Given the description of an element on the screen output the (x, y) to click on. 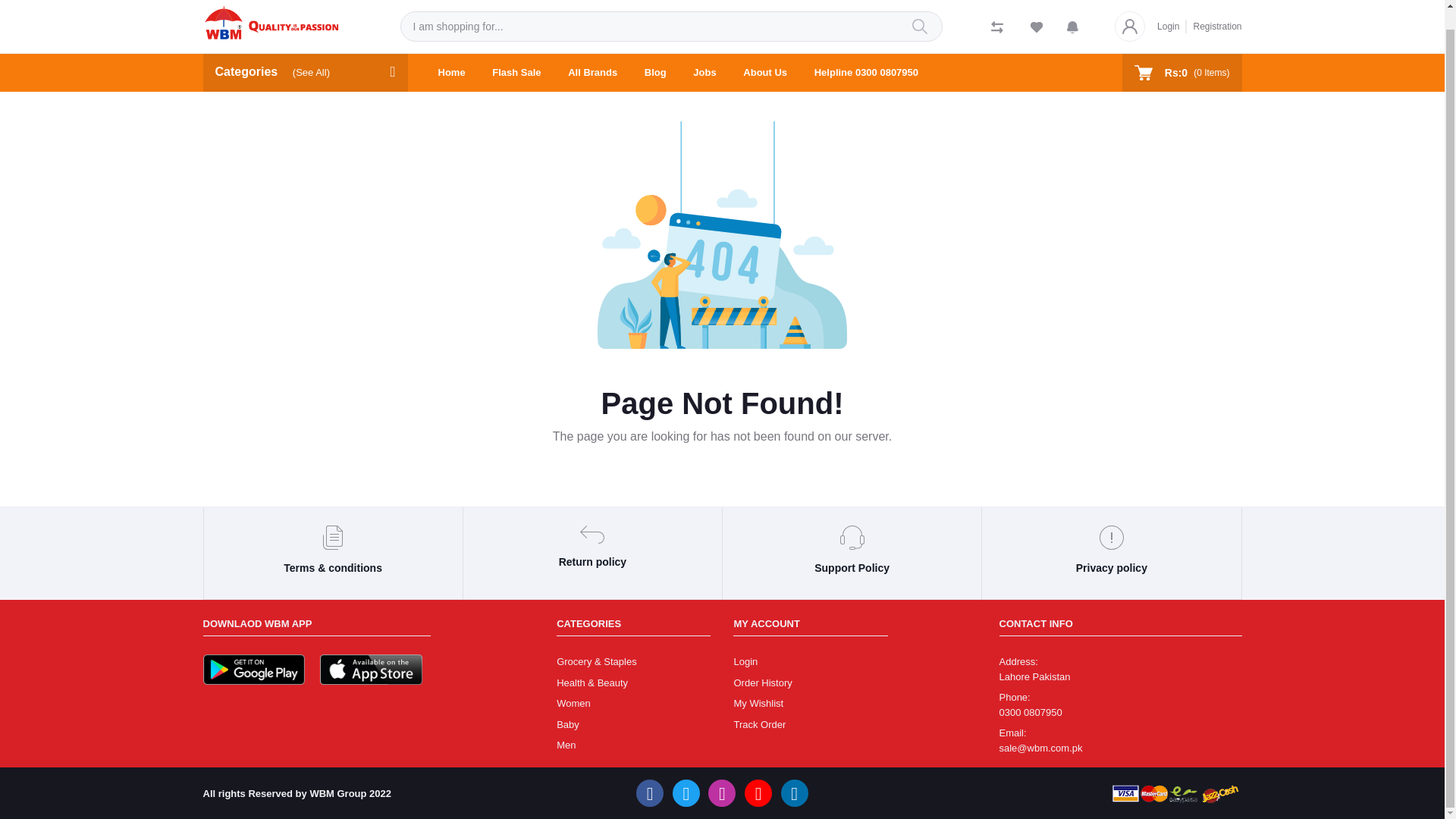
About Us (764, 53)
Jobs (704, 53)
Cart (1181, 53)
Registration (1213, 10)
Flash Sale (516, 53)
Login (1171, 7)
Blog (654, 53)
Home (451, 53)
All Brands (592, 53)
Helpline 0300 0807950 (866, 53)
